Given the description of an element on the screen output the (x, y) to click on. 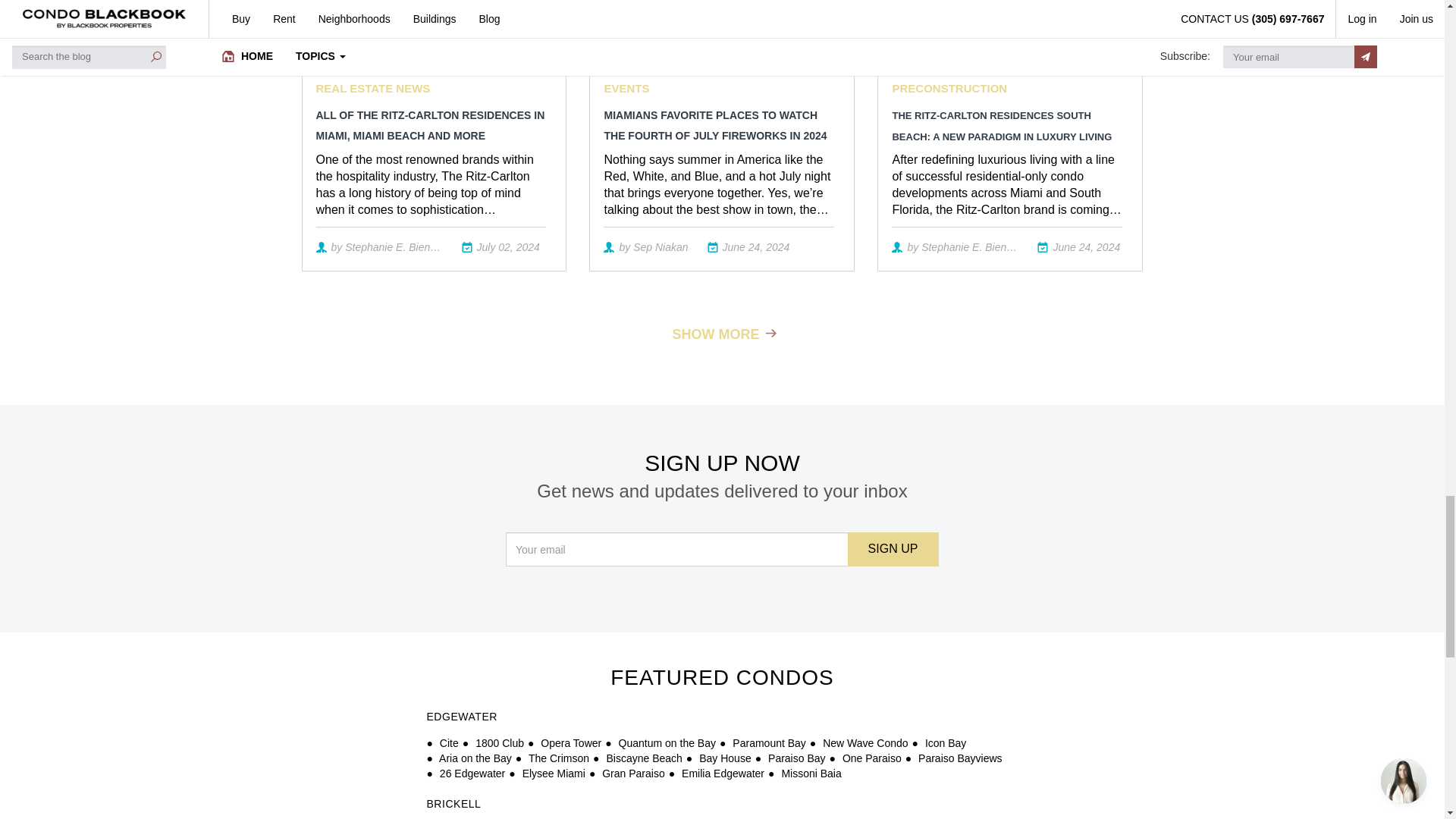
Stephanie E. Bienstock (963, 247)
Stephanie E. Bienstock (386, 247)
Sep Niakan (653, 247)
